Given the description of an element on the screen output the (x, y) to click on. 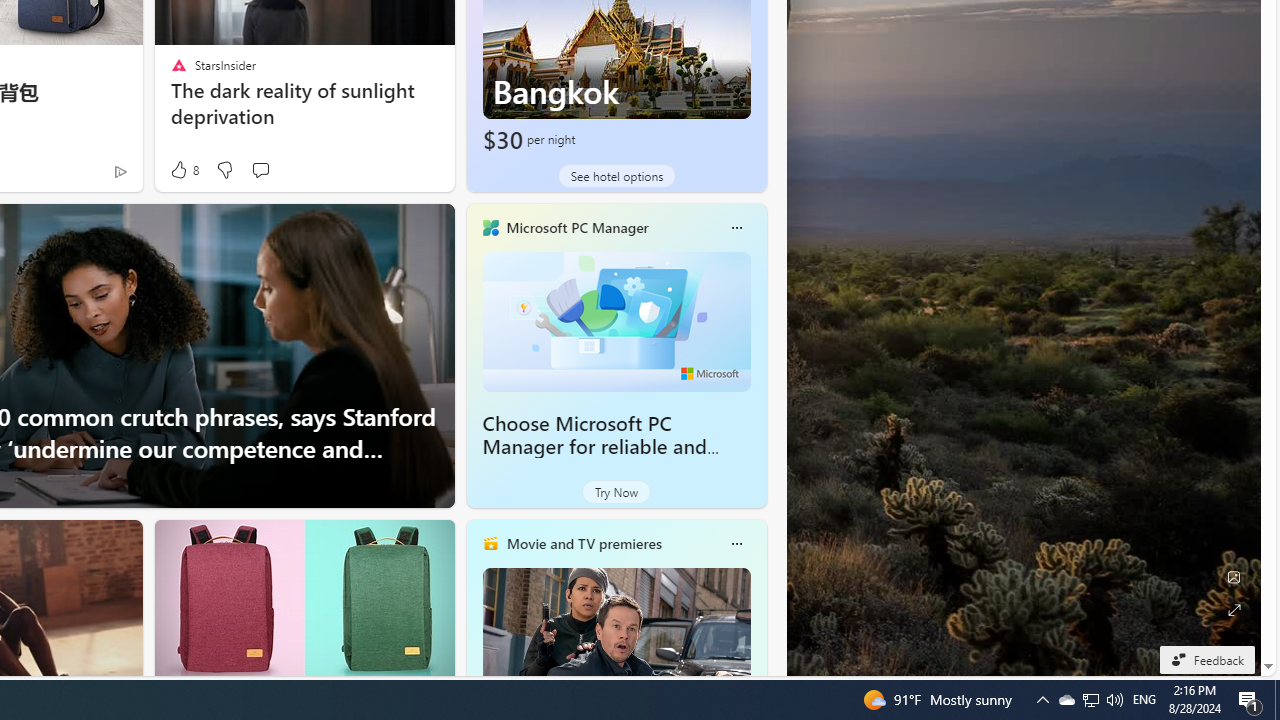
See hotel options (615, 175)
8 Like (183, 170)
Try Now (616, 491)
Edit Background (1233, 577)
Microsoft PC Manager (576, 227)
Class: icon-img (736, 543)
Expand background (1233, 610)
Movie and TV premieres (583, 543)
